Given the description of an element on the screen output the (x, y) to click on. 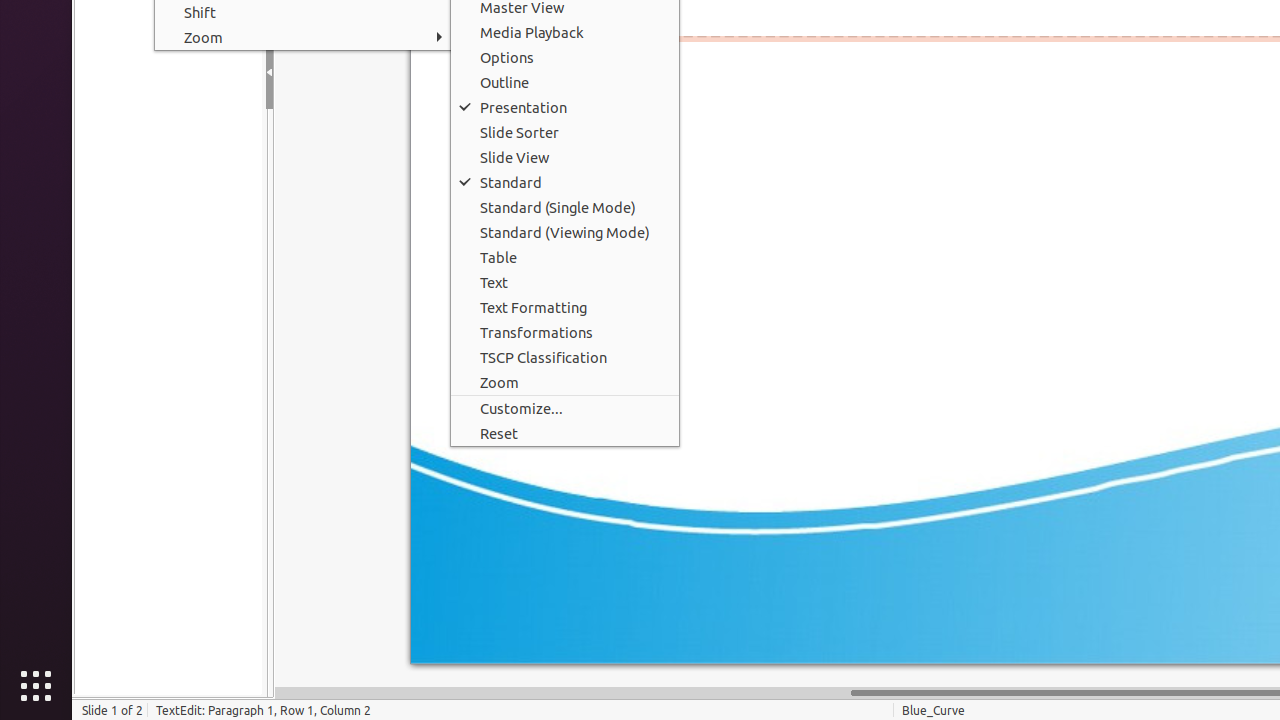
Standard Element type: check-menu-item (565, 182)
Text Formatting Element type: check-menu-item (565, 307)
Standard (Single Mode) Element type: check-menu-item (565, 207)
TSCP Classification Element type: check-menu-item (565, 357)
